Given the description of an element on the screen output the (x, y) to click on. 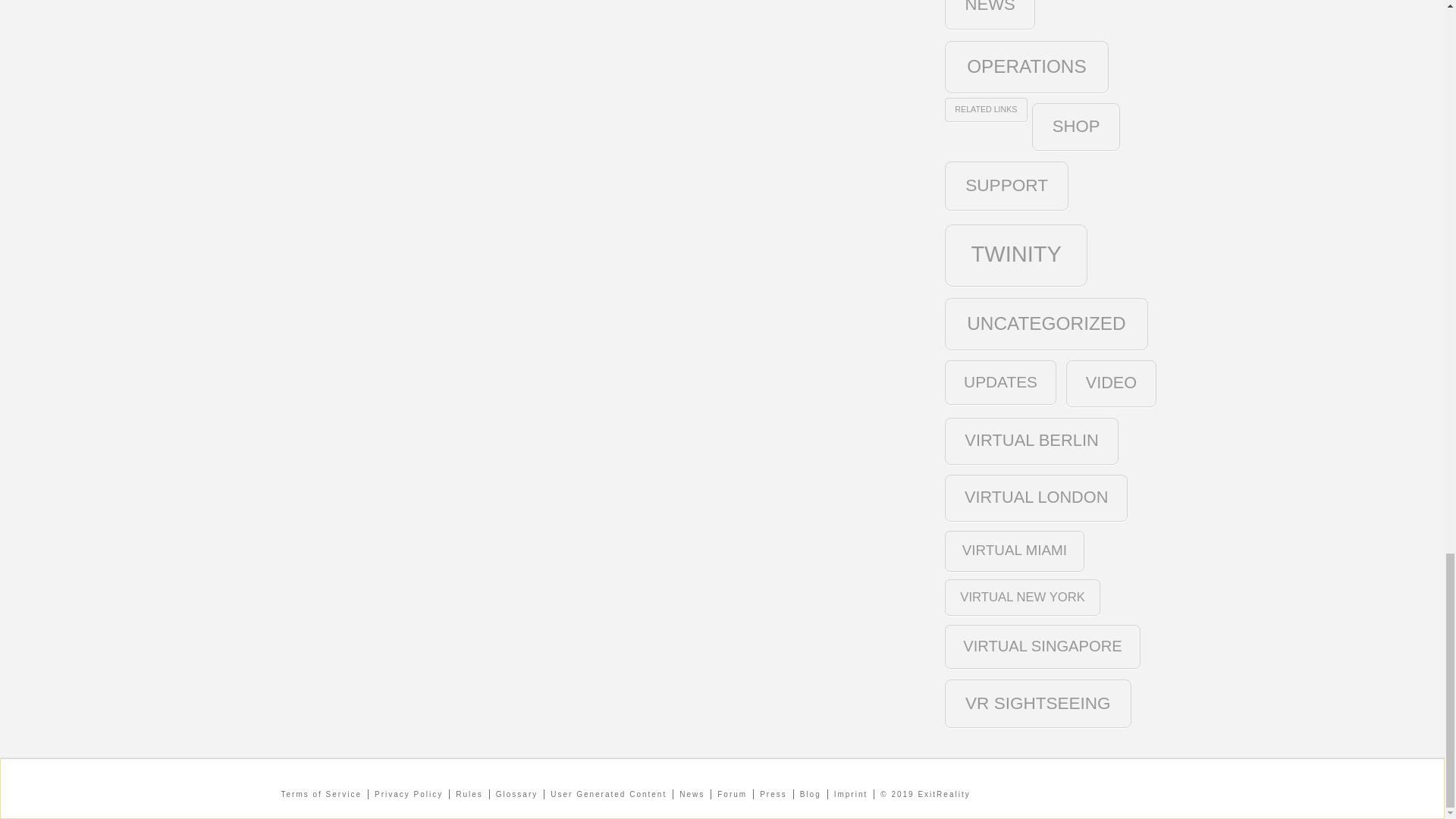
SHOP (1075, 126)
RELATED LINKS (985, 109)
OPERATIONS (1026, 66)
NEWS (989, 14)
SUPPORT (1006, 185)
